Given the description of an element on the screen output the (x, y) to click on. 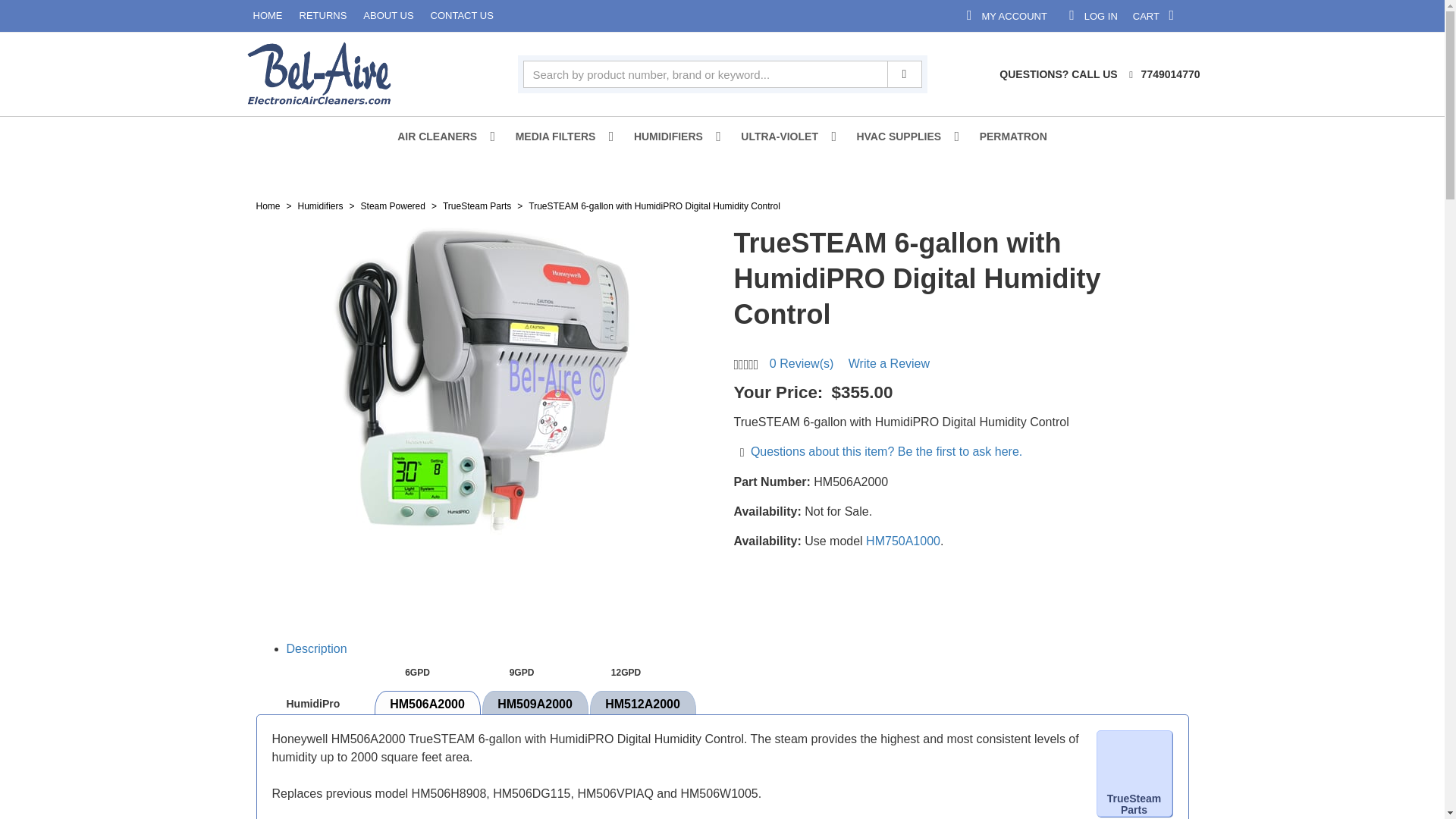
CONTACT US (125, 15)
ABOUT US (33, 15)
AIR CLEANERS (440, 136)
ULTRA-VIOLET (1355, 15)
HUMIDIFIERS (1252, 15)
HVAC SUPPLIES (783, 136)
MEDIA FILTERS (671, 136)
